Given the description of an element on the screen output the (x, y) to click on. 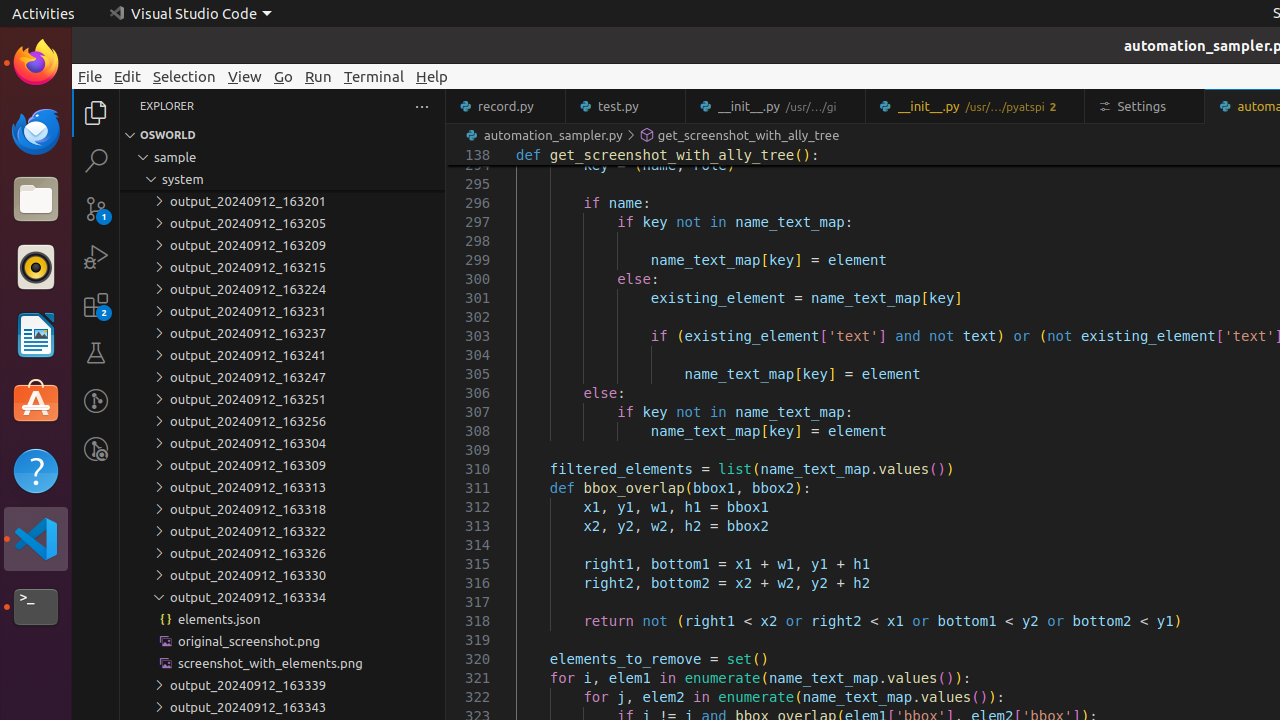
Go Element type: push-button (283, 76)
output_20240912_163251 Element type: tree-item (282, 399)
output_20240912_163318 Element type: tree-item (282, 509)
Search (Ctrl+Shift+F) Element type: page-tab (96, 160)
